Given the description of an element on the screen output the (x, y) to click on. 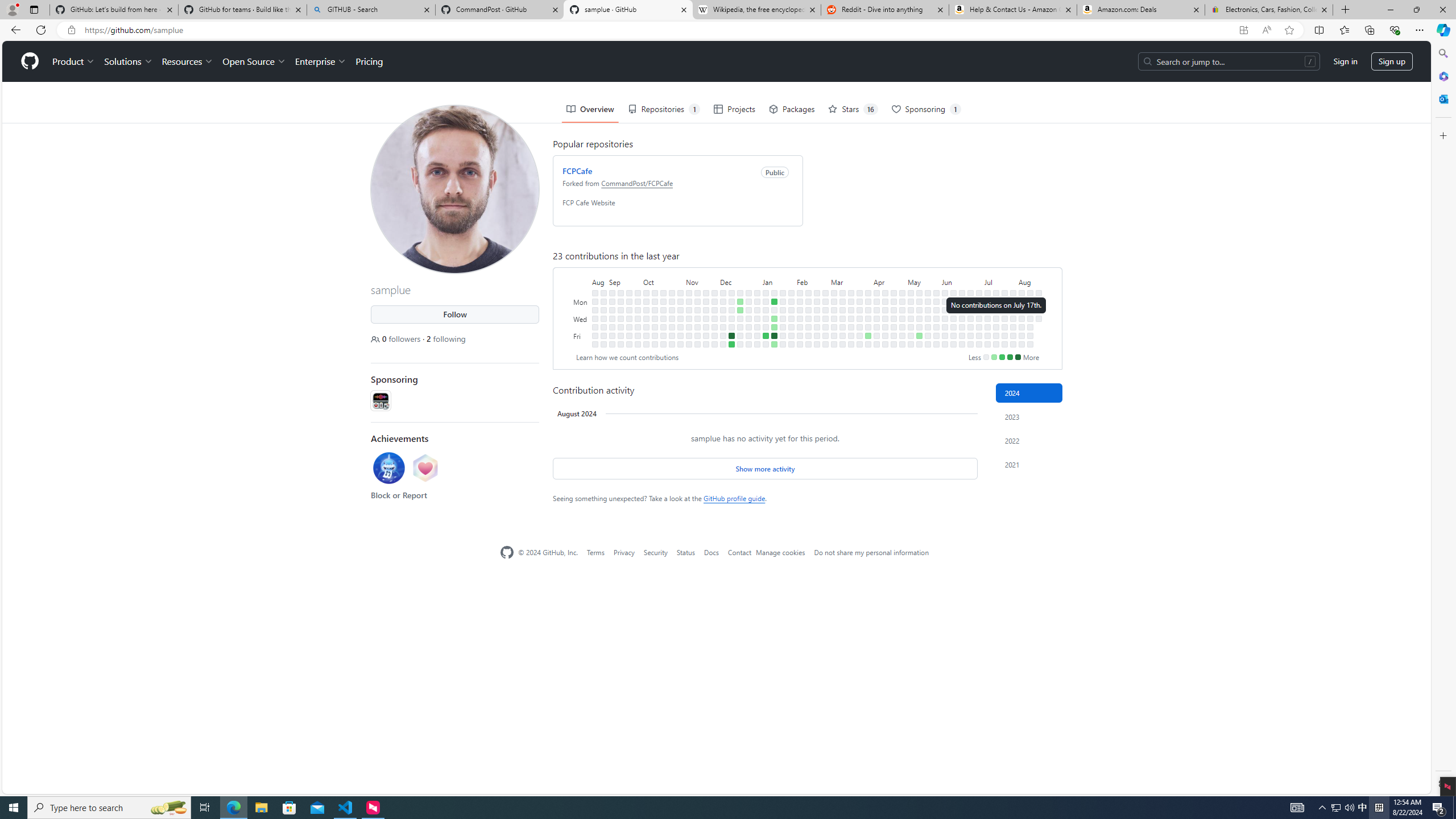
No contributions on February 28th. (825, 318)
No contributions on February 14th. (807, 318)
No contributions on September 1st. (603, 335)
Docs (711, 552)
Terms (595, 552)
No contributions on August 7th. (1022, 318)
No contributions on May 26th. (936, 292)
No contributions on August 3rd. (1013, 343)
No contributions on March 20th. (850, 318)
No contributions on May 24th. (927, 335)
No contributions on July 6th. (978, 343)
January (778, 280)
No contributions on March 29th. (859, 335)
No contributions on August 16th. (1029, 335)
No contributions on February 13th. (807, 309)
